Given the description of an element on the screen output the (x, y) to click on. 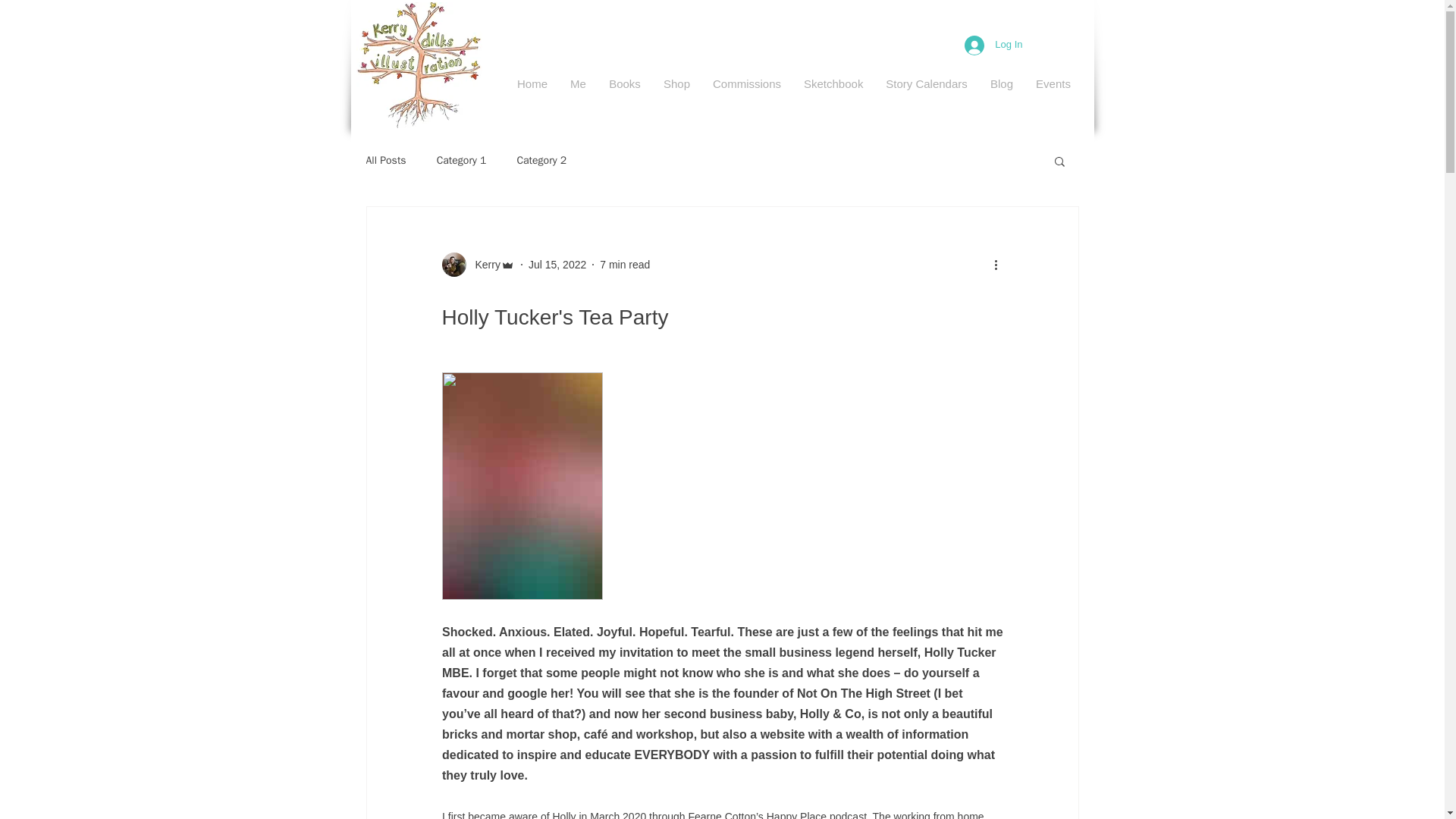
Kerry (482, 263)
Sketchbook (833, 83)
Me (577, 83)
Blog (1001, 83)
Shop (676, 83)
Log In (992, 44)
Category 1 (461, 160)
Jul 15, 2022 (557, 263)
Commissions (746, 83)
All Posts (385, 160)
